Given the description of an element on the screen output the (x, y) to click on. 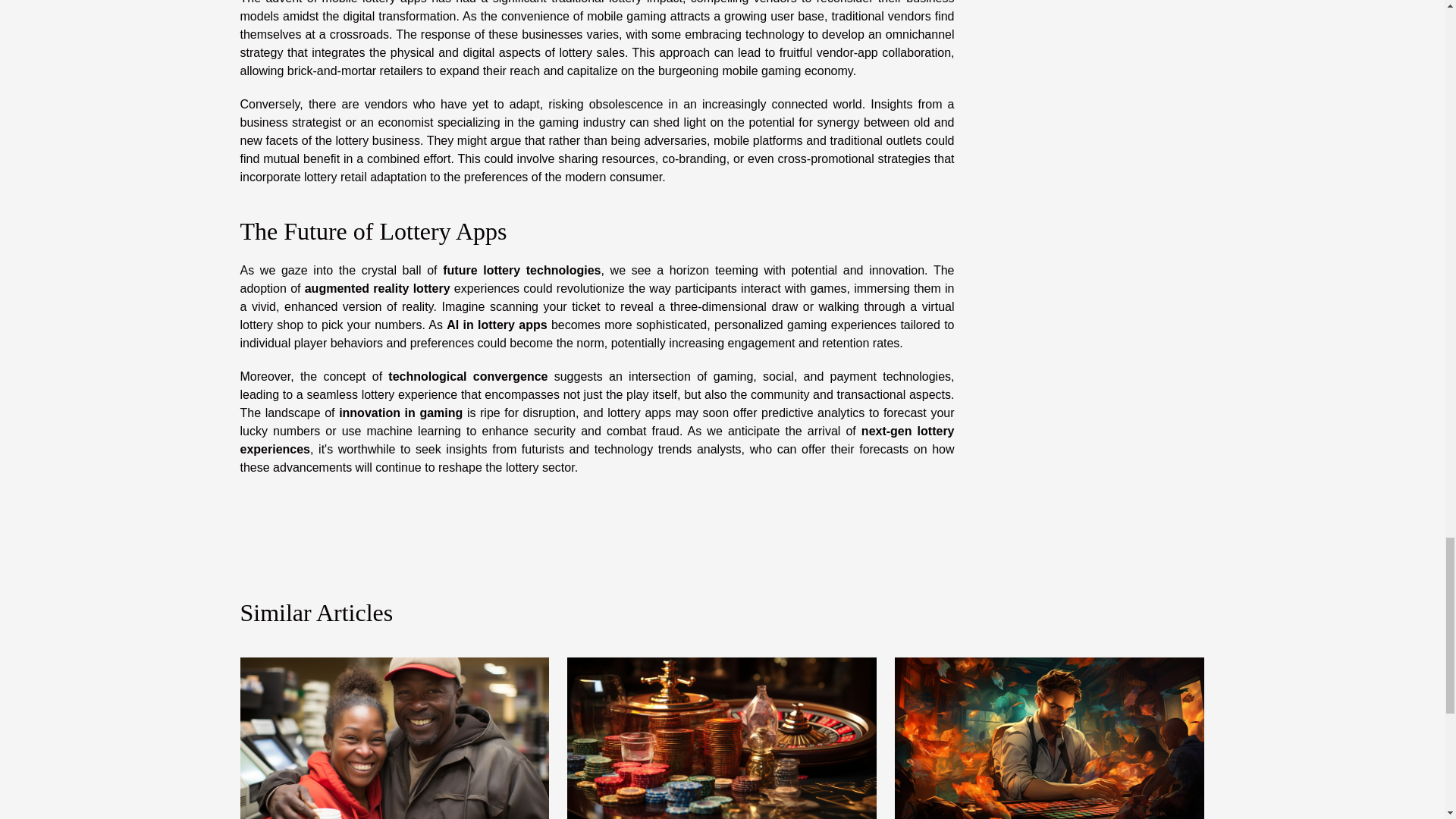
Lottery Winners: Life After the Jackpot (394, 744)
